Given the description of an element on the screen output the (x, y) to click on. 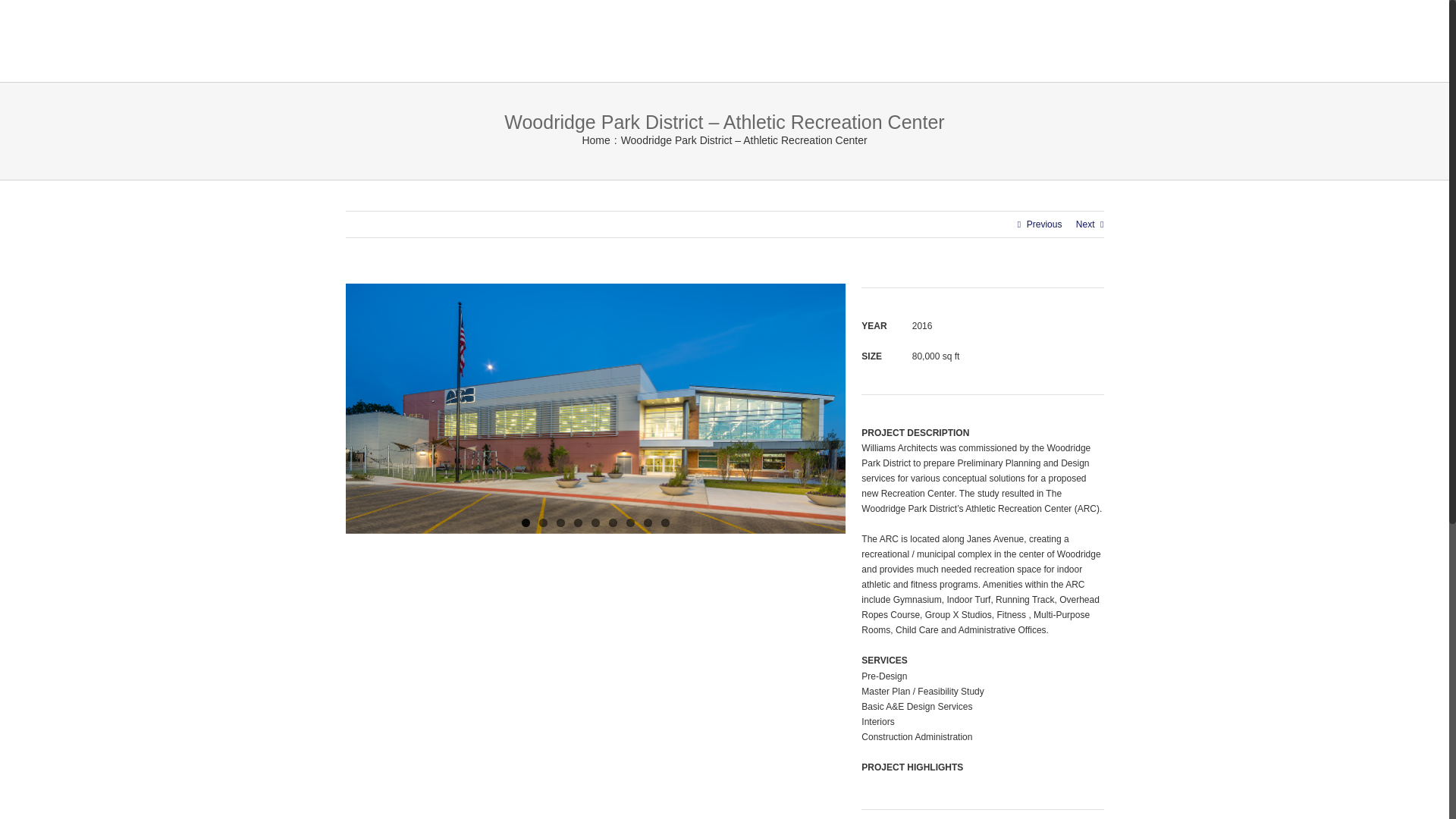
CURRENT PROJECTS (872, 40)
